Given the description of an element on the screen output the (x, y) to click on. 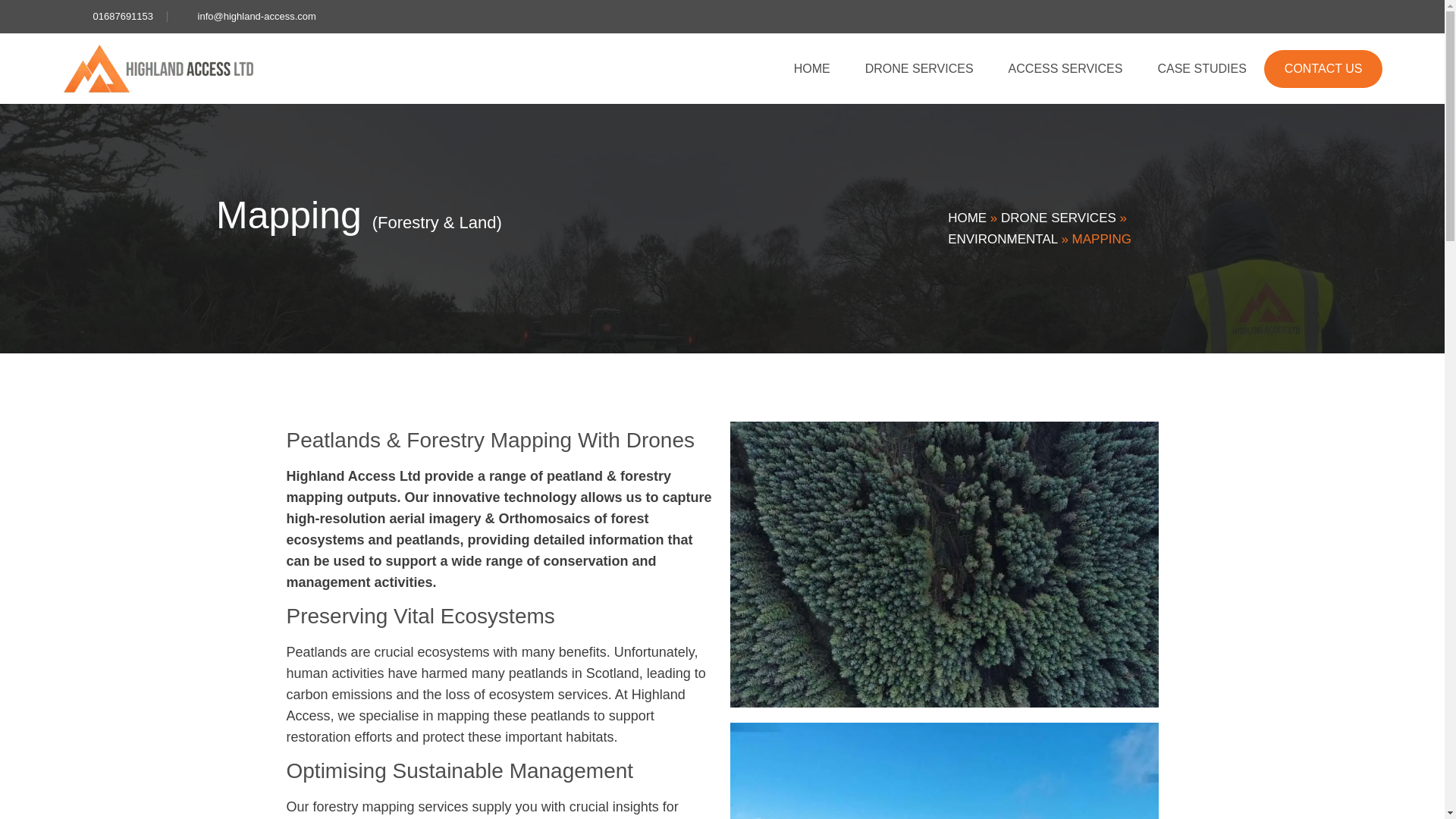
CONTACT US (1323, 68)
DRONE SERVICES (919, 68)
HOME (811, 68)
CASE STUDIES (1201, 68)
ACCESS SERVICES (1065, 68)
